Given the description of an element on the screen output the (x, y) to click on. 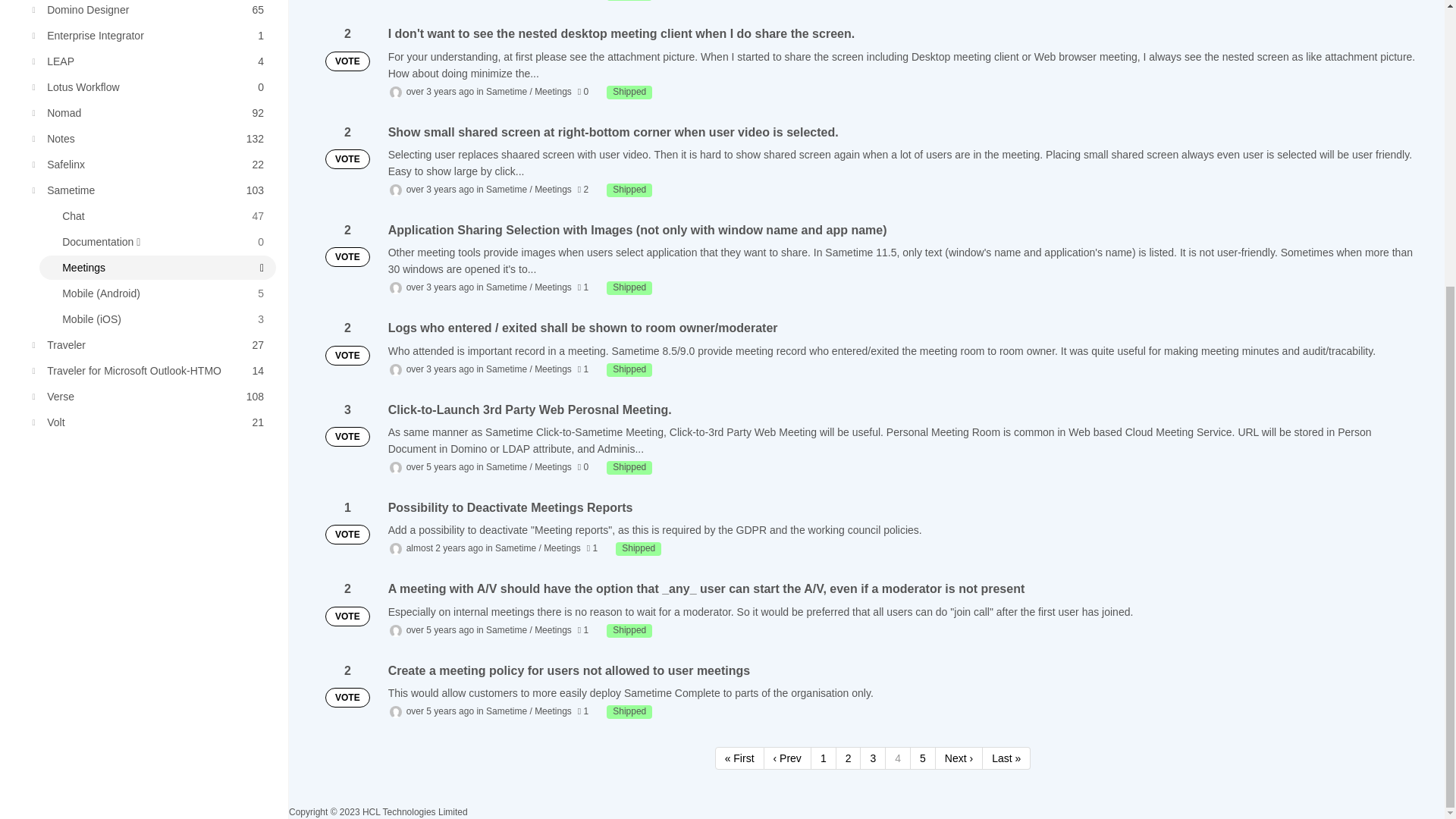
Shipped (150, 35)
Shipped (638, 549)
Shipped (150, 112)
Shipped (629, 631)
Shipped (629, 369)
Shipped (629, 468)
Shipped (629, 190)
Shipped (150, 61)
Shipped (150, 11)
